Given the description of an element on the screen output the (x, y) to click on. 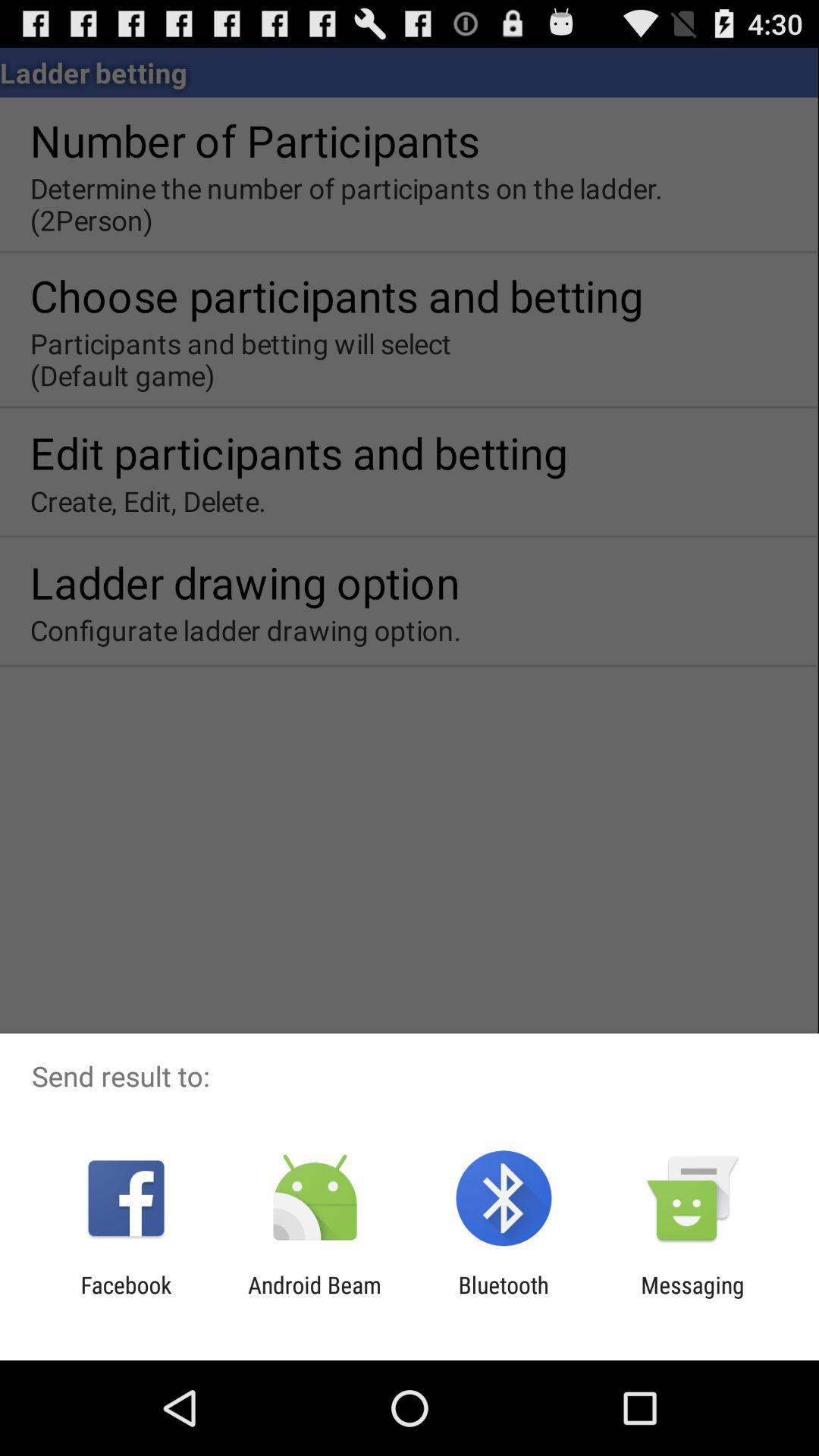
click item to the left of the android beam item (125, 1298)
